Given the description of an element on the screen output the (x, y) to click on. 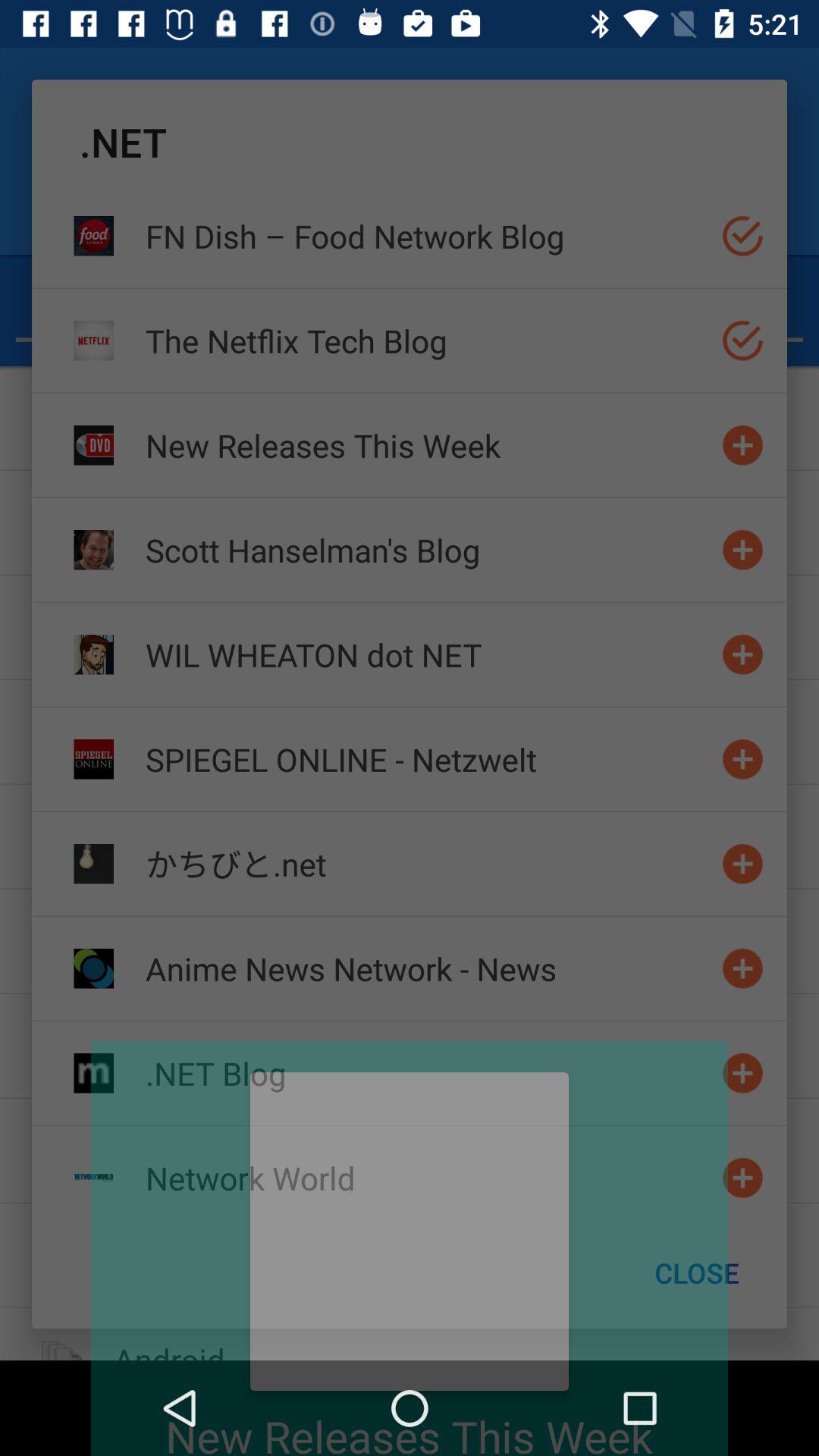
select that website (742, 654)
